Given the description of an element on the screen output the (x, y) to click on. 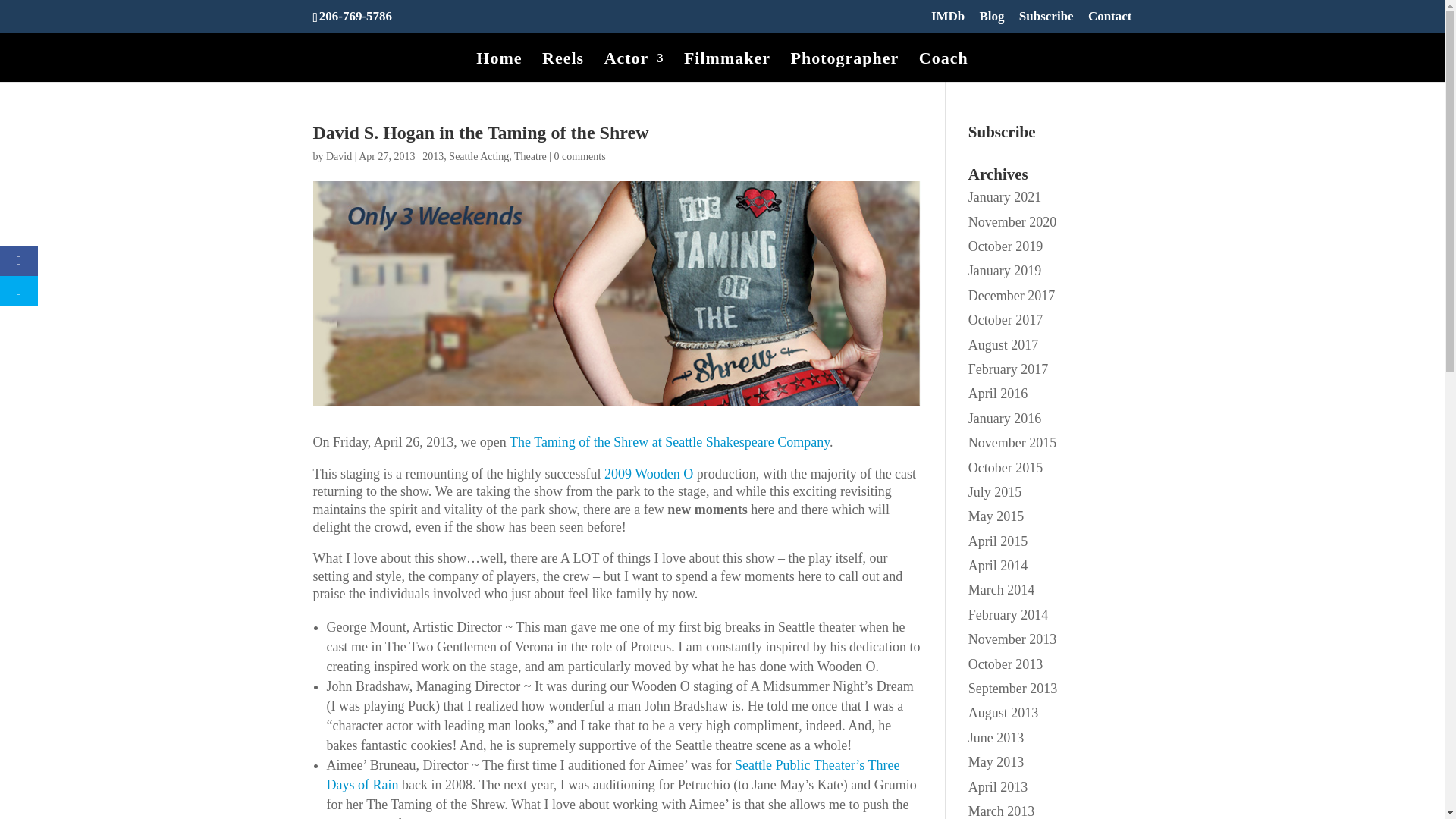
Posts by David (339, 156)
The Taming of the Shrew at Seattle Shakespeare Company (669, 441)
January 2021 (1004, 196)
Contact (1109, 20)
David (339, 156)
February 2017 (1008, 368)
IMDb (947, 20)
Subscribe (1046, 20)
Actor (633, 67)
August 2017 (1003, 344)
0 comments (579, 156)
Home (498, 67)
October 2019 (1005, 246)
Blog (991, 20)
Reels (562, 67)
